Given the description of an element on the screen output the (x, y) to click on. 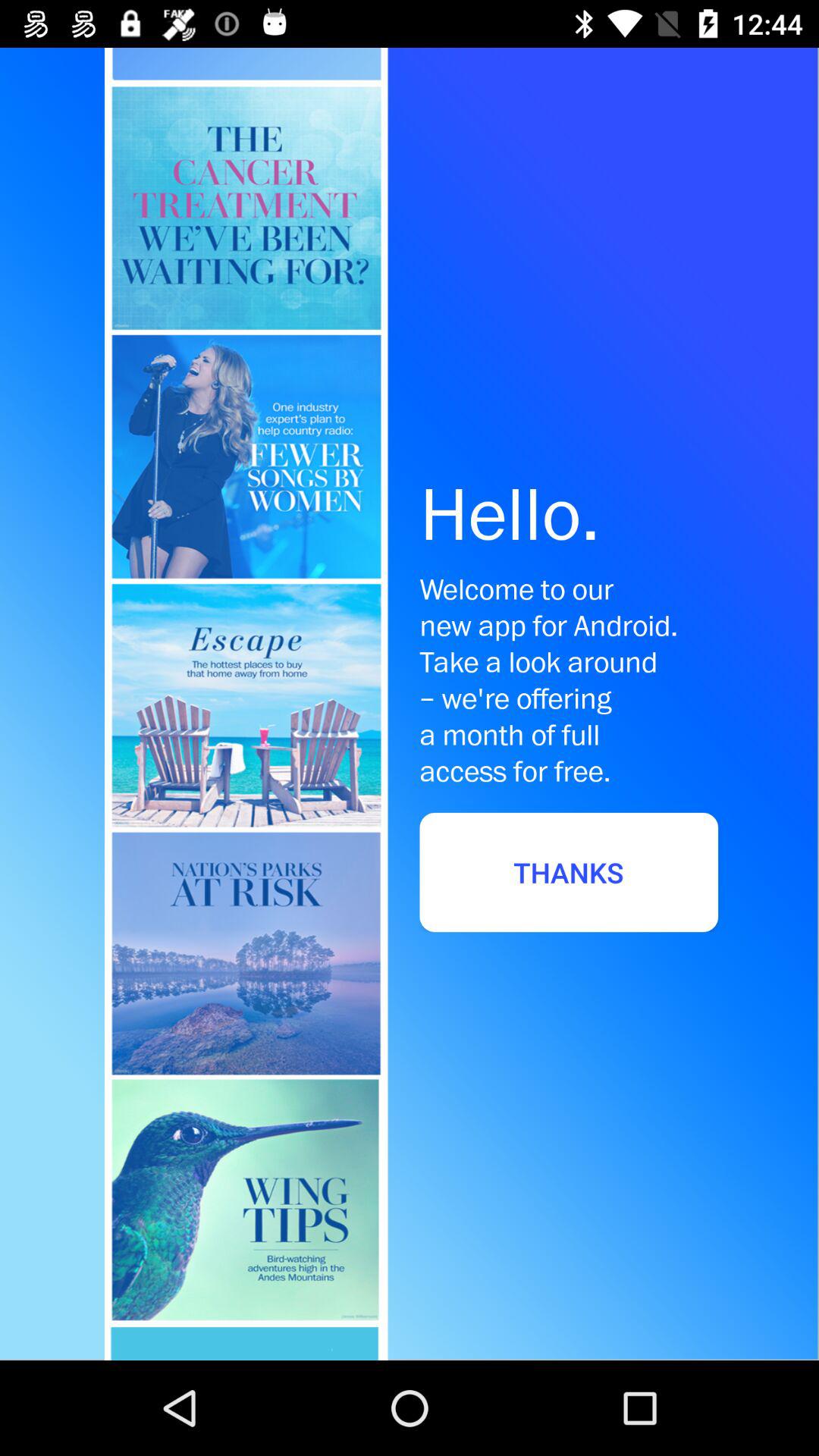
choose thanks button (568, 872)
